Given the description of an element on the screen output the (x, y) to click on. 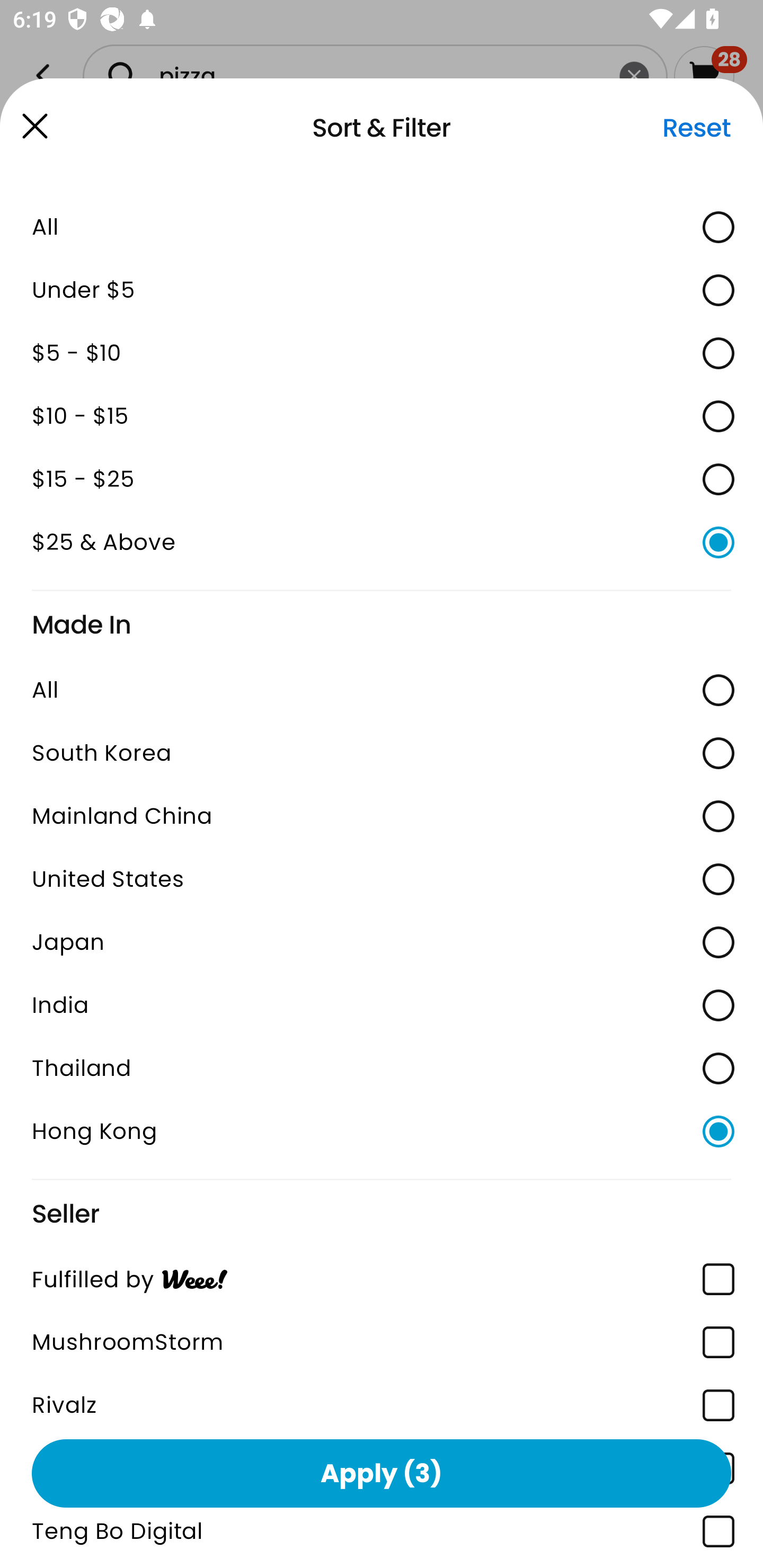
Reset (696, 127)
Apply (3) (381, 1472)
